Given the description of an element on the screen output the (x, y) to click on. 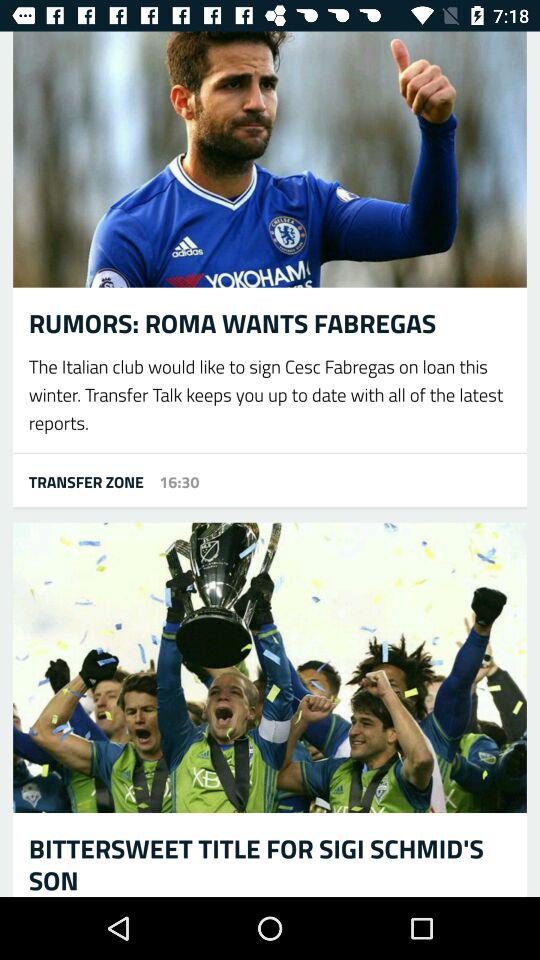
launch the item next to 16:30 icon (78, 481)
